Given the description of an element on the screen output the (x, y) to click on. 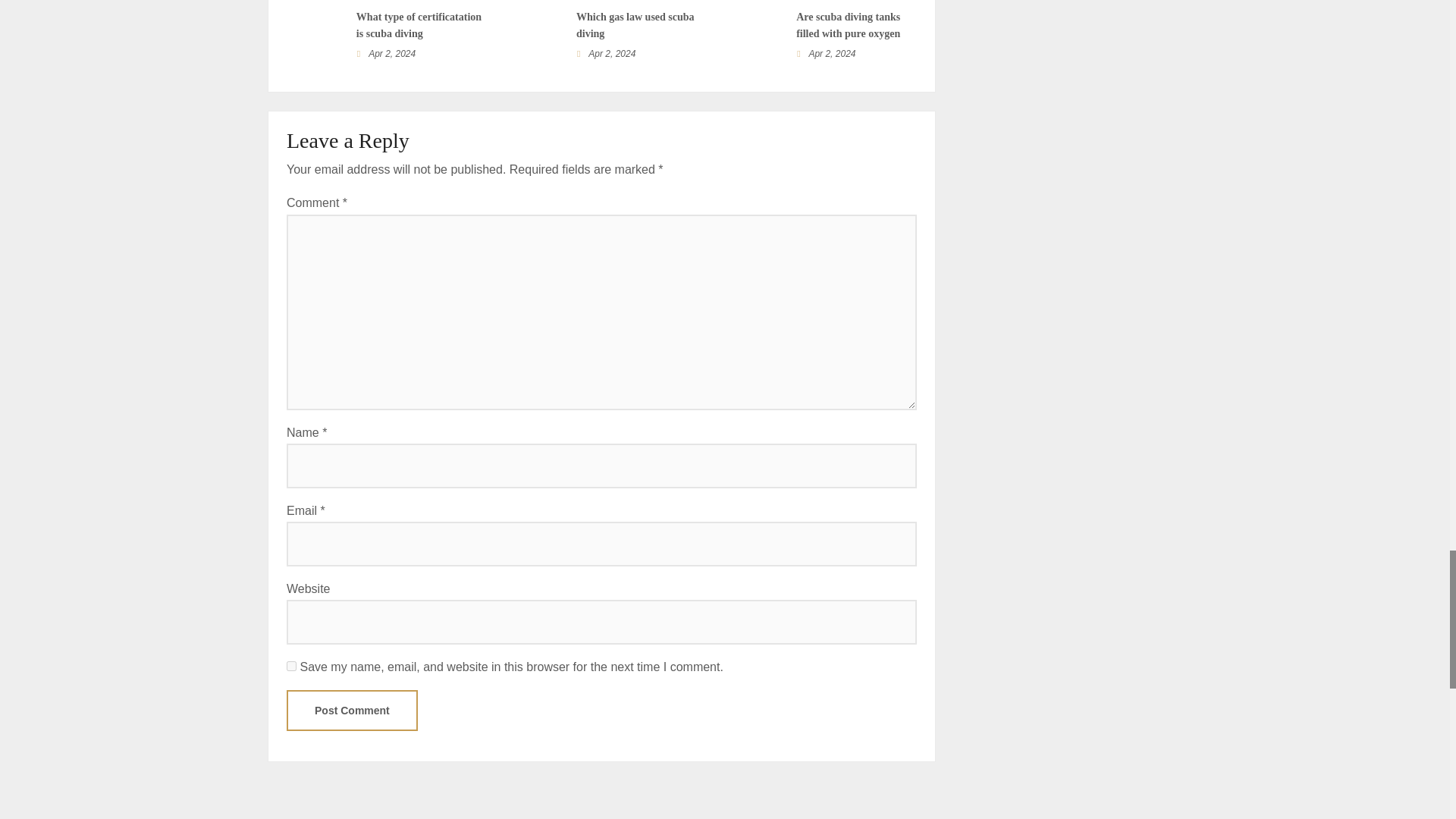
yes (291, 665)
Post Comment (351, 710)
